Given the description of an element on the screen output the (x, y) to click on. 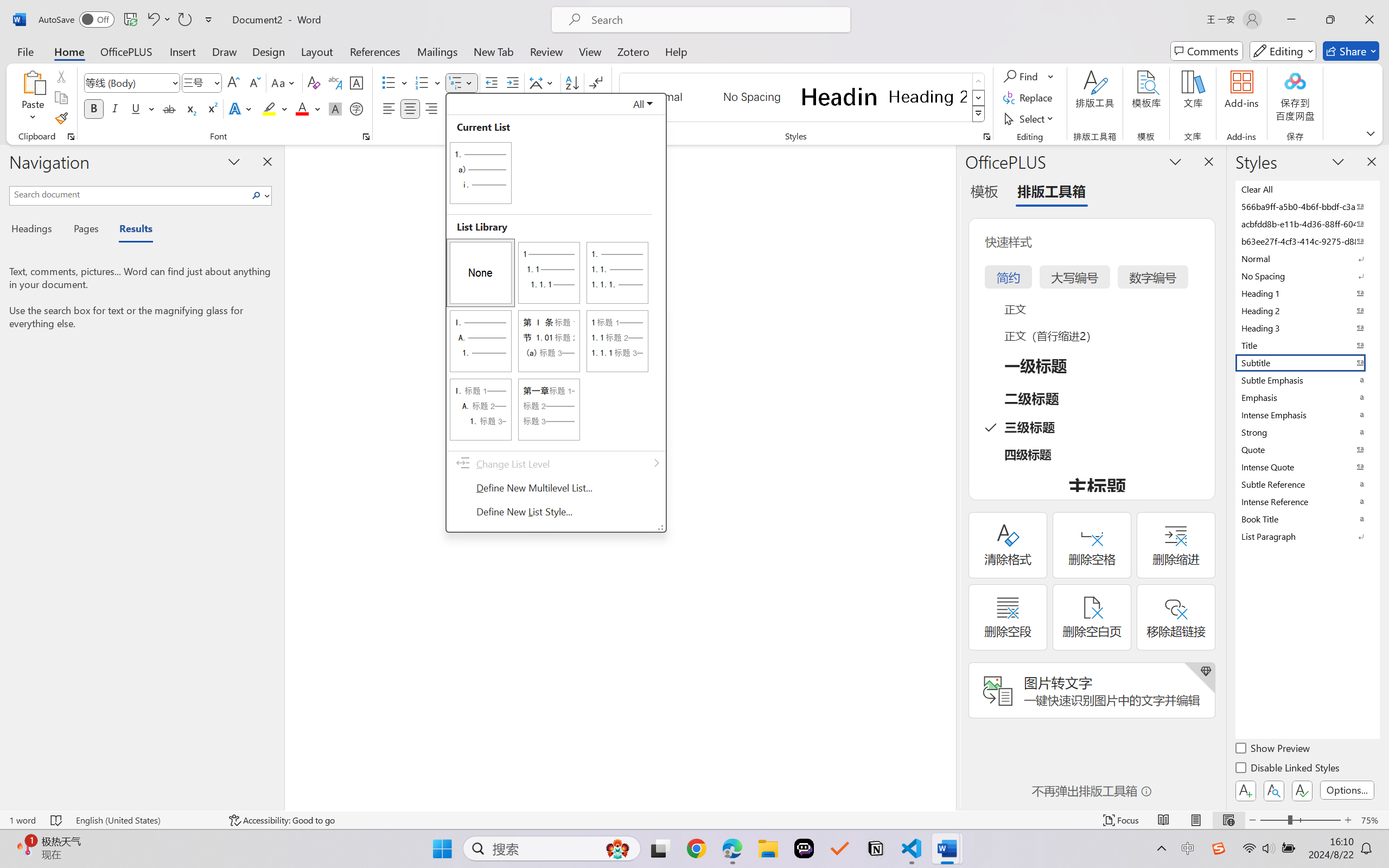
Numbering (421, 82)
Bold (94, 108)
Search document (128, 193)
Format Painter (60, 118)
Multilevel List (461, 82)
Google Chrome (696, 848)
Undo Style (152, 19)
Ribbon Display Options (1370, 132)
